Given the description of an element on the screen output the (x, y) to click on. 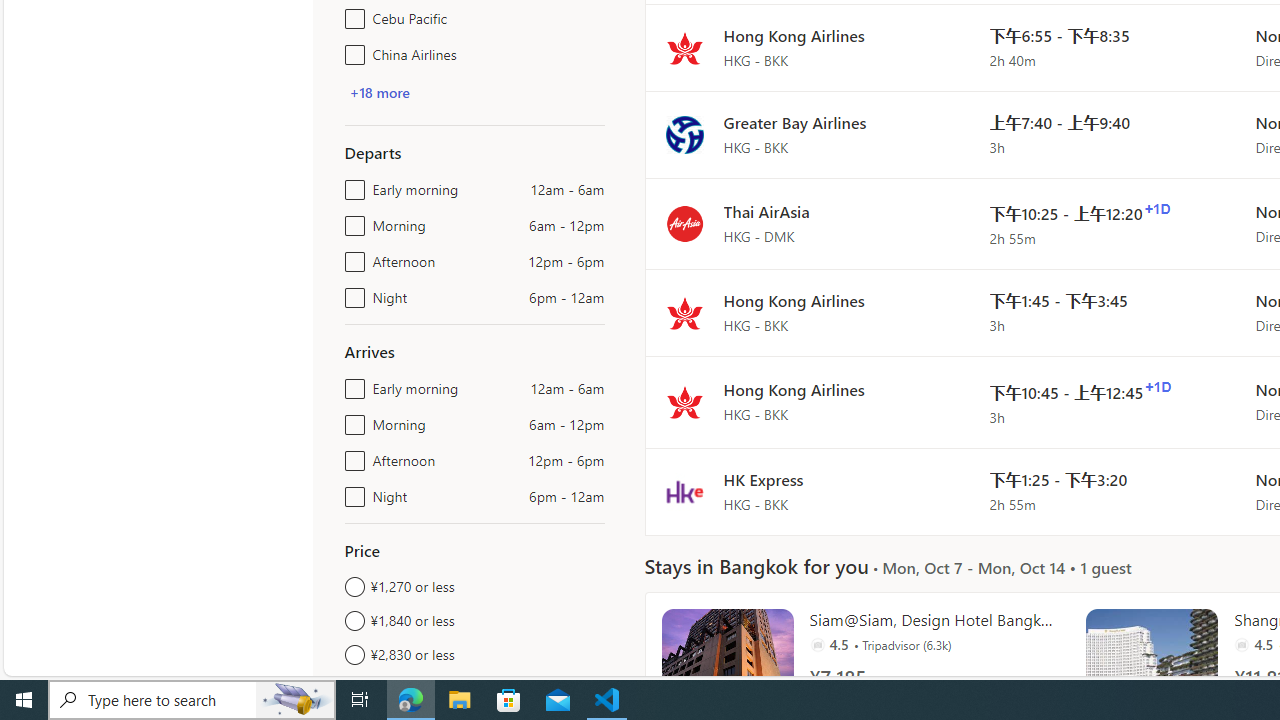
+18 more (379, 92)
China Airlines (351, 50)
Any price (474, 688)
Tripadvisor (1241, 644)
Flight logo (684, 491)
Afternoon12pm - 6pm (351, 456)
Cebu Pacific (351, 14)
Early morning12am - 6am (351, 384)
Night6pm - 12am (351, 492)
Morning6am - 12pm (351, 420)
